Given the description of an element on the screen output the (x, y) to click on. 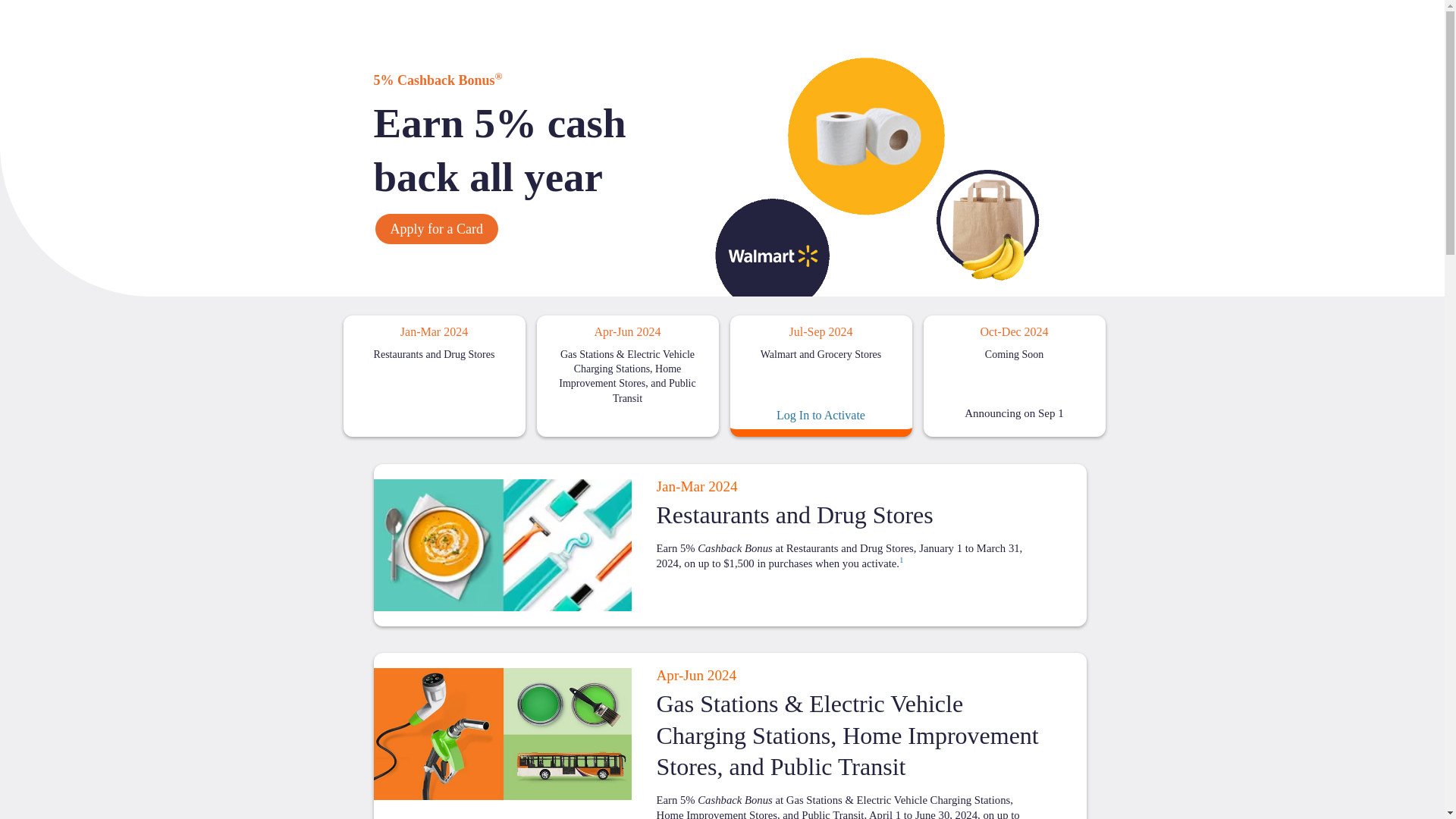
January (666, 486)
June (692, 675)
December (1011, 331)
September (815, 331)
January (408, 331)
October (988, 331)
March (430, 331)
April (603, 331)
June (624, 331)
July (796, 331)
March (691, 486)
April (667, 675)
